Given the description of an element on the screen output the (x, y) to click on. 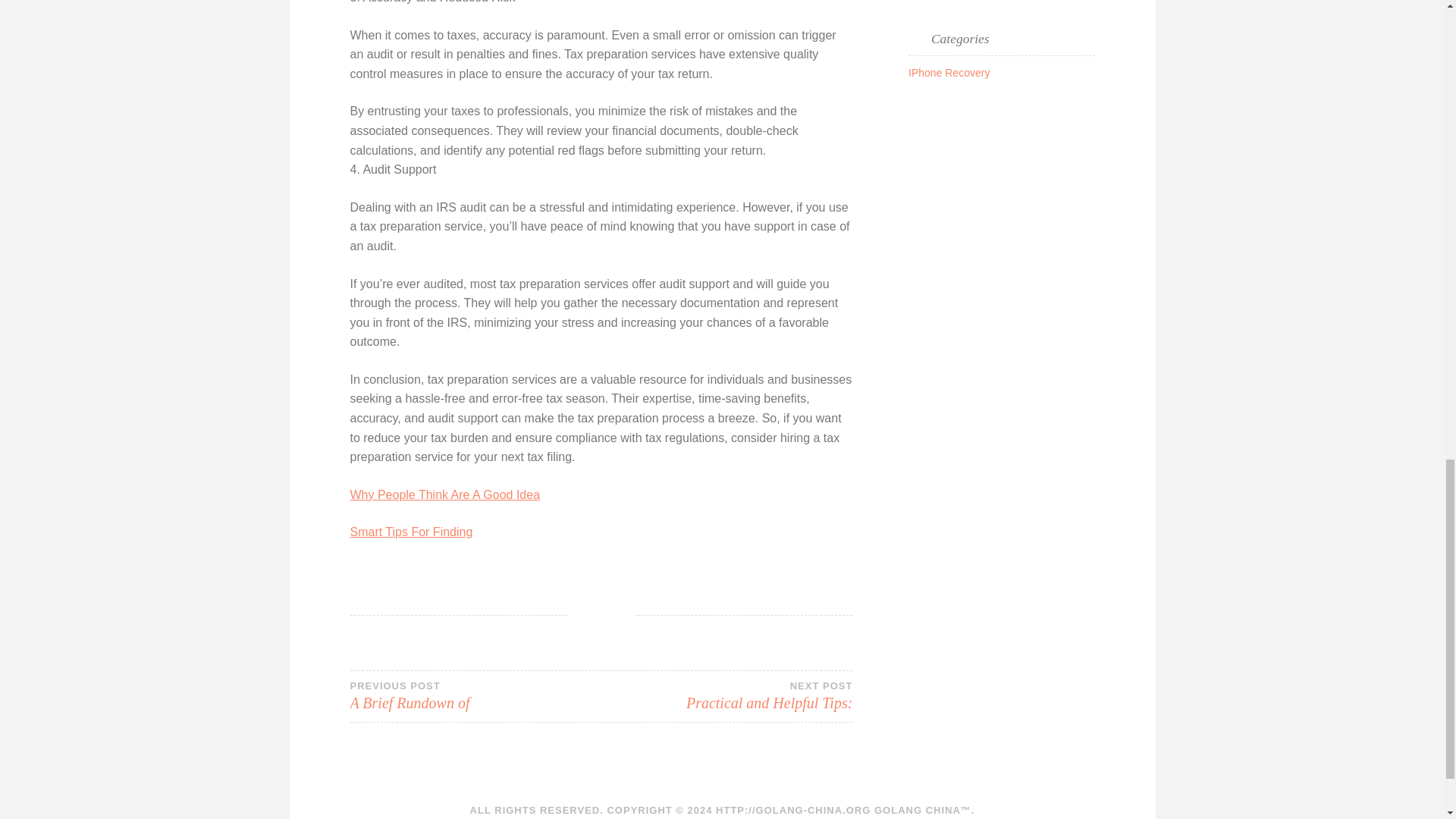
IPhone Recovery (949, 72)
Smart Tips For Finding (411, 531)
Why People Think Are A Good Idea (445, 494)
